Given the description of an element on the screen output the (x, y) to click on. 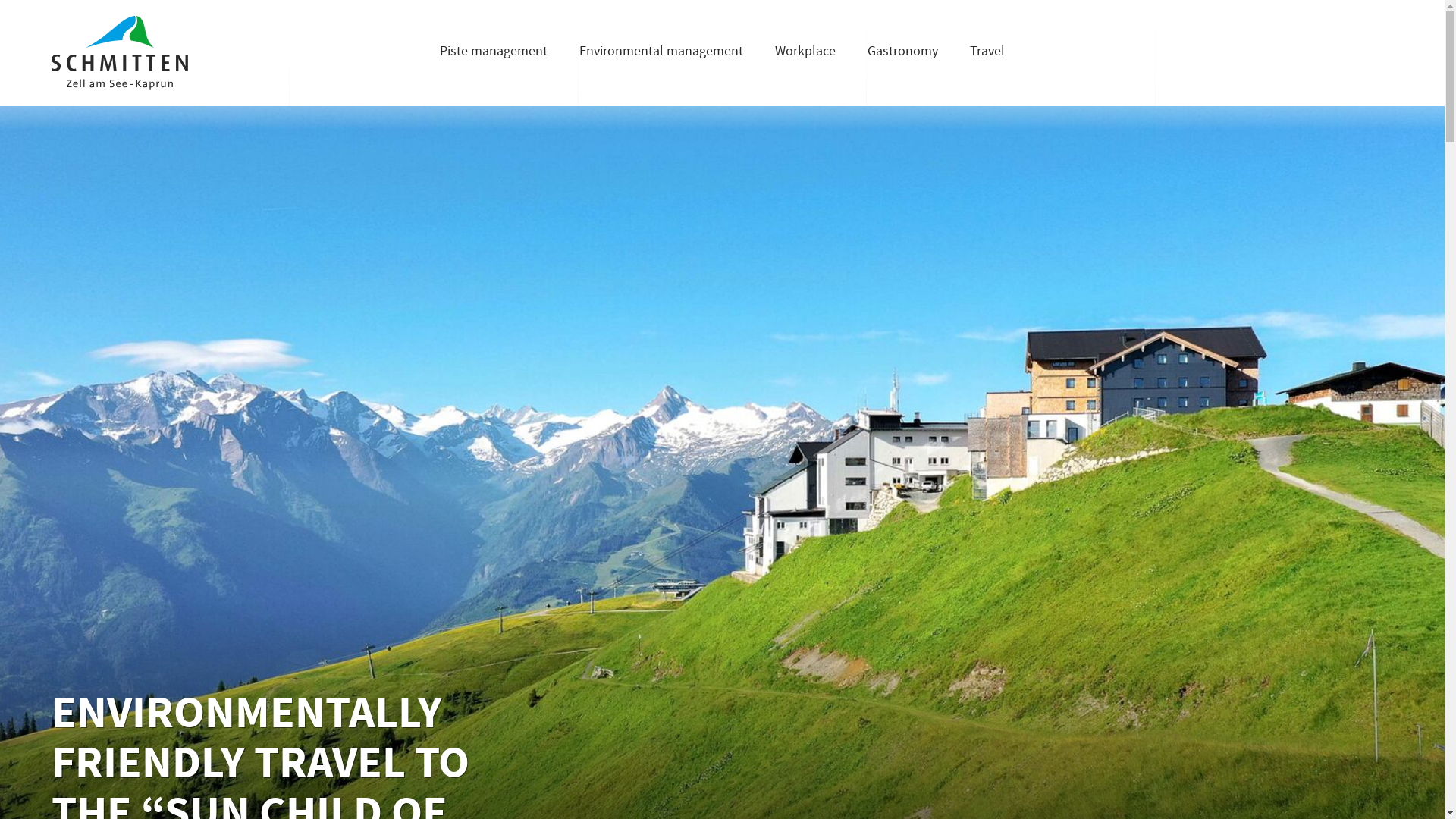
Workplace (804, 52)
Sustainable travel and mobility offers around the Schmitten (729, 7)
Piste management (493, 52)
Gastronomy (902, 52)
Travel (986, 52)
Environmental management (660, 52)
